Given the description of an element on the screen output the (x, y) to click on. 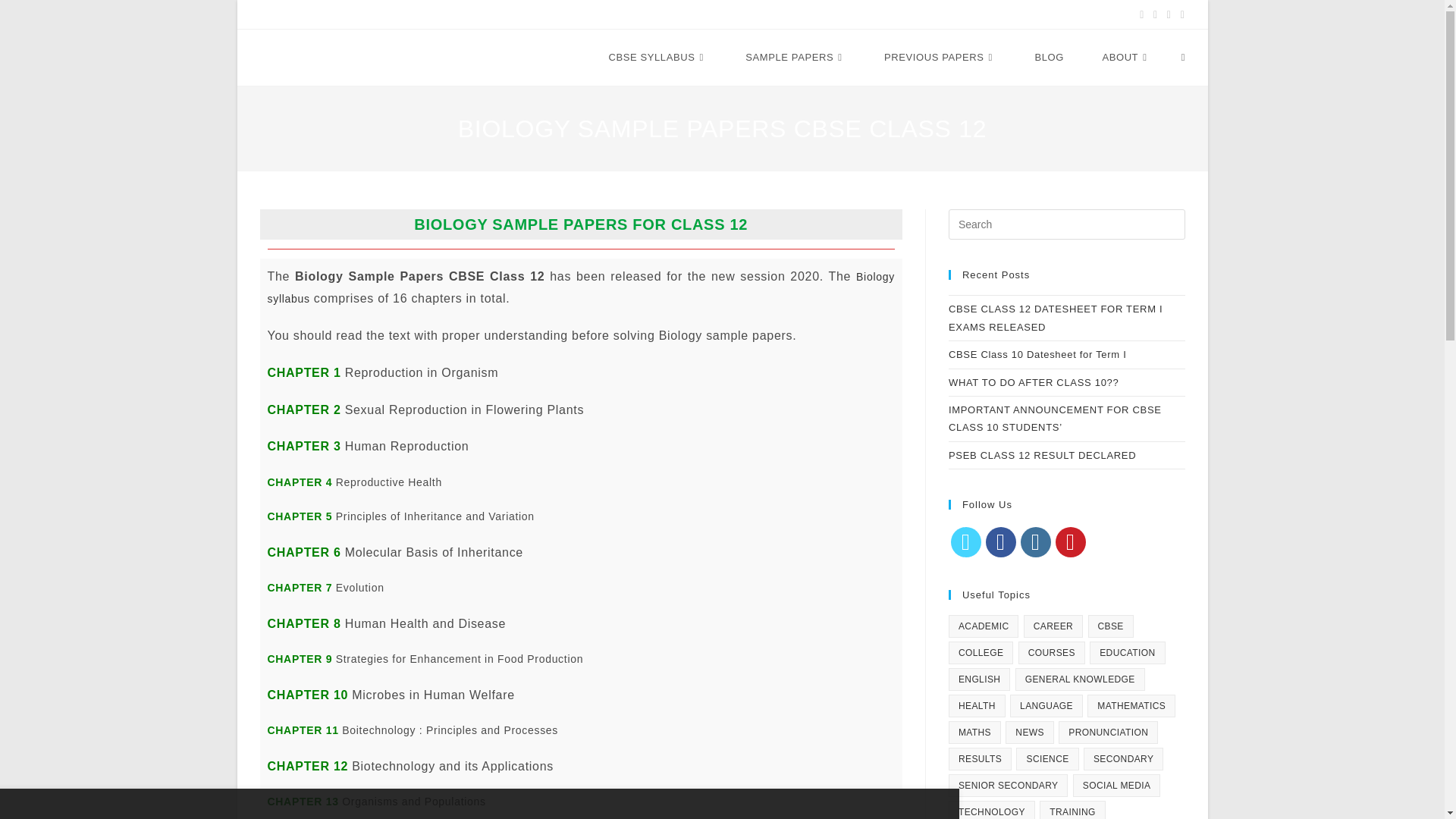
PREVIOUS PAPERS (939, 57)
SAMPLE PAPERS (795, 57)
CBSE SYLLABUS (721, 57)
